Given the description of an element on the screen output the (x, y) to click on. 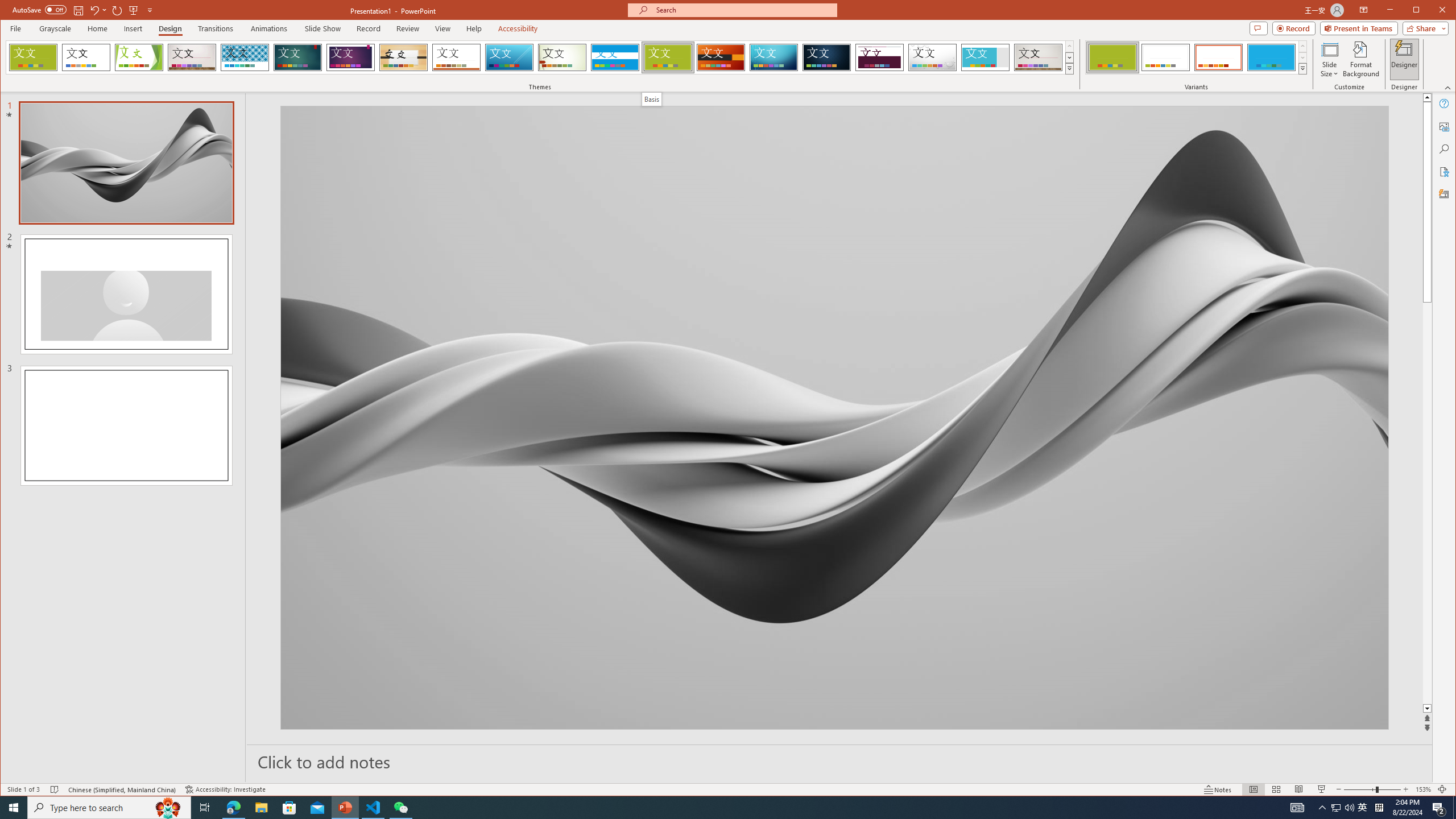
Banded (615, 57)
Slice (509, 57)
Office Theme (85, 57)
Basis Variant 1 (1112, 57)
